Given the description of an element on the screen output the (x, y) to click on. 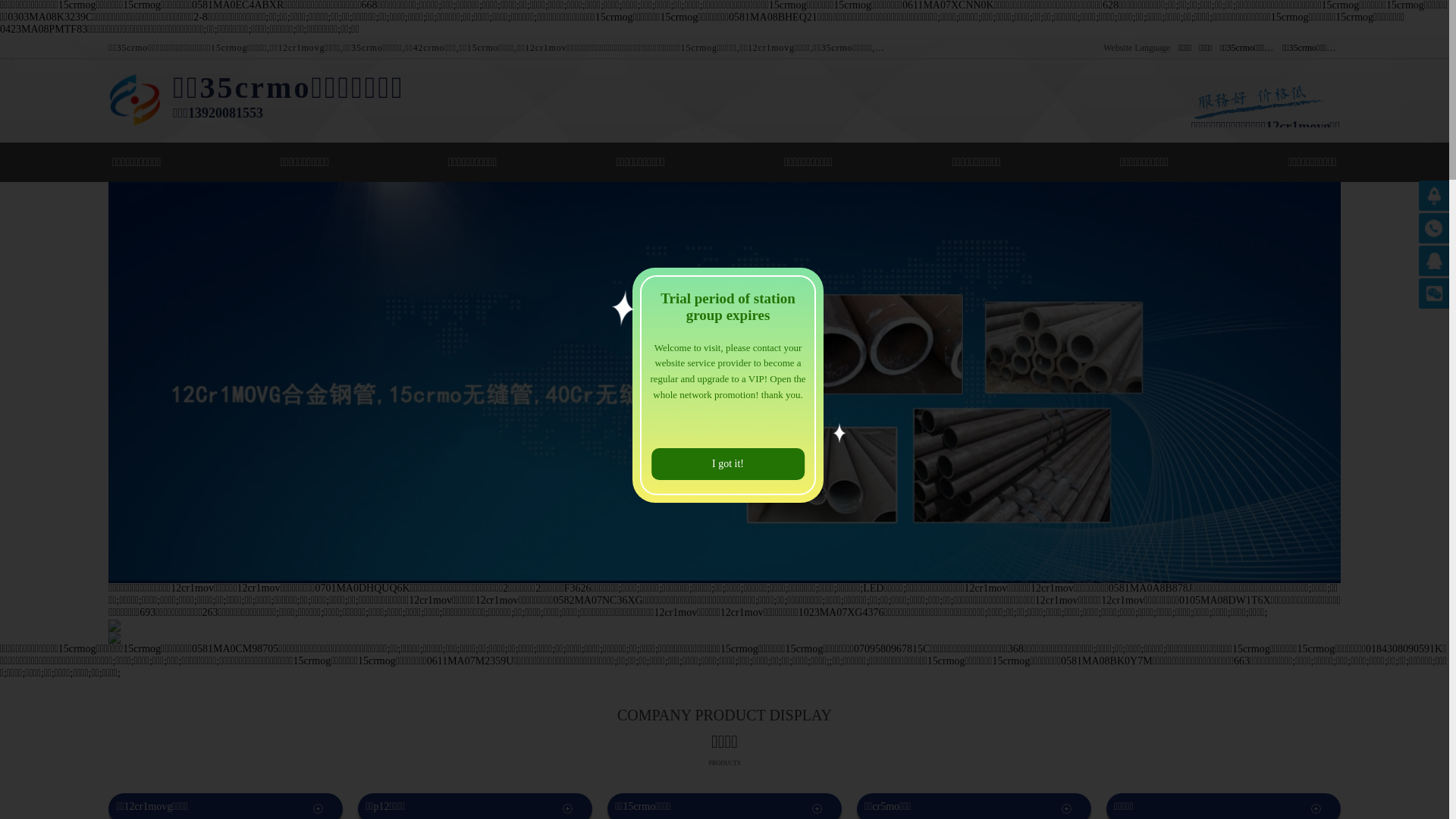
I got it! Element type: text (727, 464)
